Given the description of an element on the screen output the (x, y) to click on. 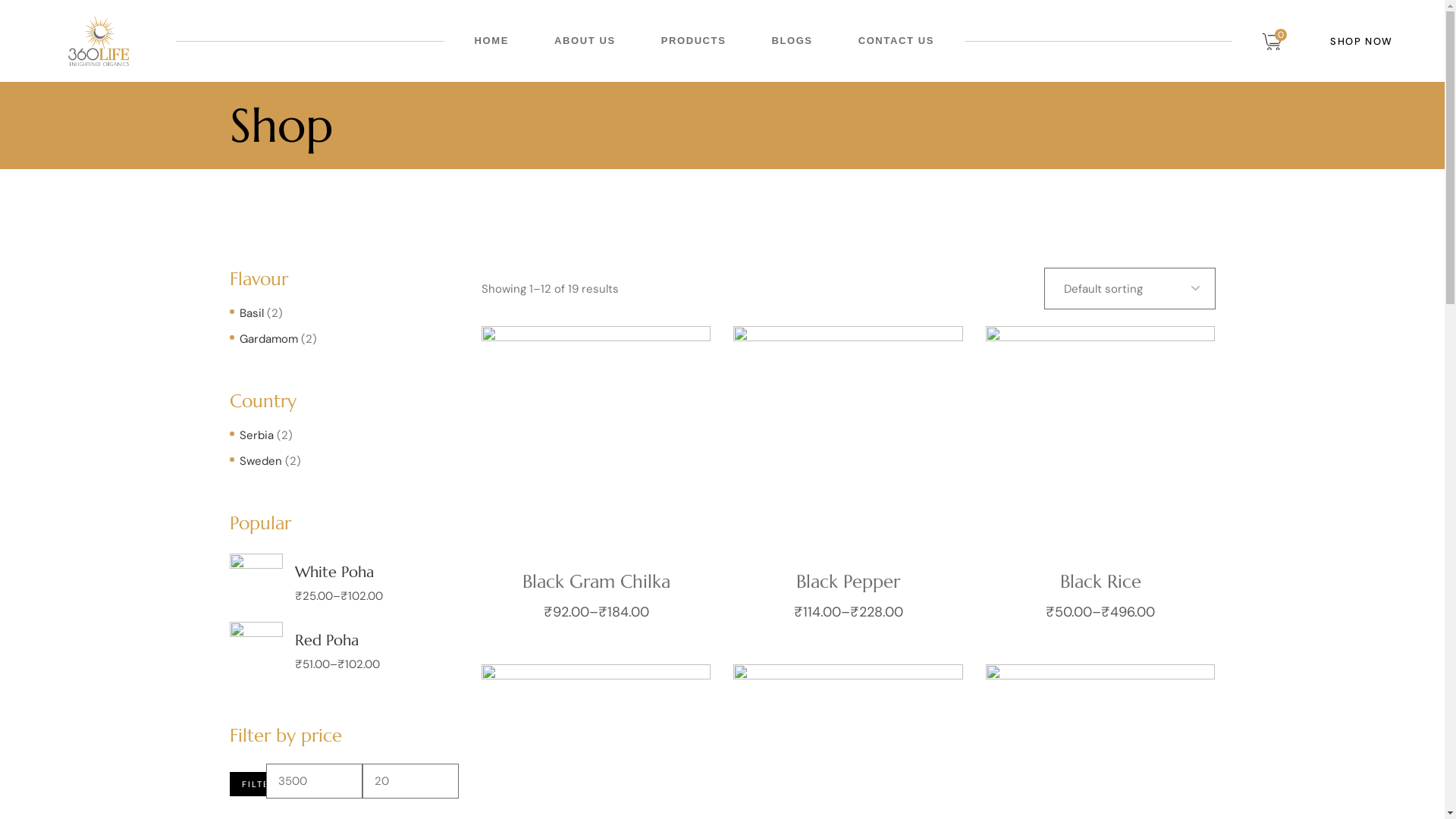
FILTER Element type: text (247, 783)
Gardamom Element type: text (268, 338)
BLOGS Element type: text (791, 40)
PRODUCTS Element type: text (693, 40)
SHOP NOW Element type: text (1349, 40)
Black Pepper Element type: text (848, 582)
White Poha Element type: text (333, 572)
Basil Element type: text (251, 312)
0 Element type: text (1274, 40)
Sweden Element type: text (260, 460)
HOME Element type: text (491, 40)
CONTACT US Element type: text (896, 40)
Red Poha Element type: text (325, 640)
Black Gram Chilka Element type: text (596, 582)
Serbia Element type: text (256, 434)
ABOUT US Element type: text (584, 40)
Black Rice Element type: text (1100, 582)
